Given the description of an element on the screen output the (x, y) to click on. 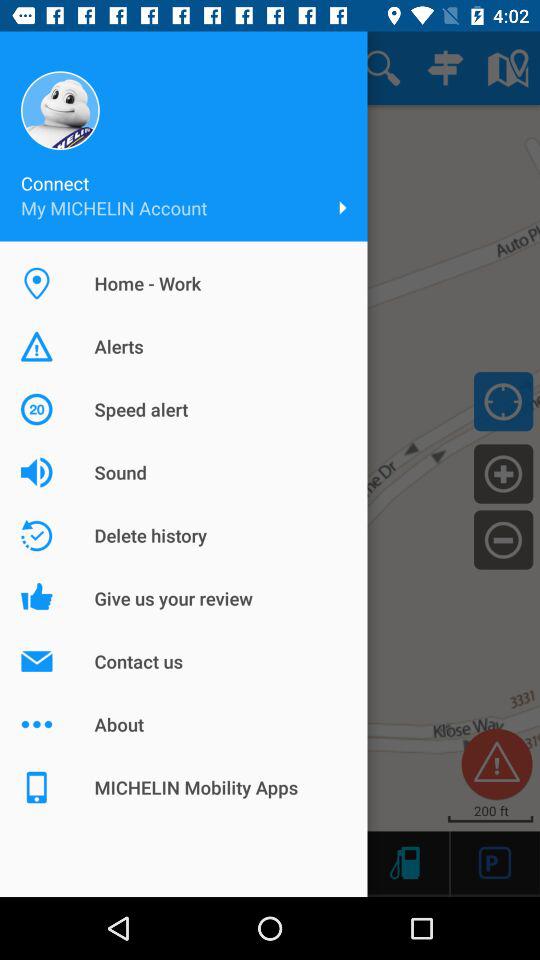
gas station locations (404, 862)
